Given the description of an element on the screen output the (x, y) to click on. 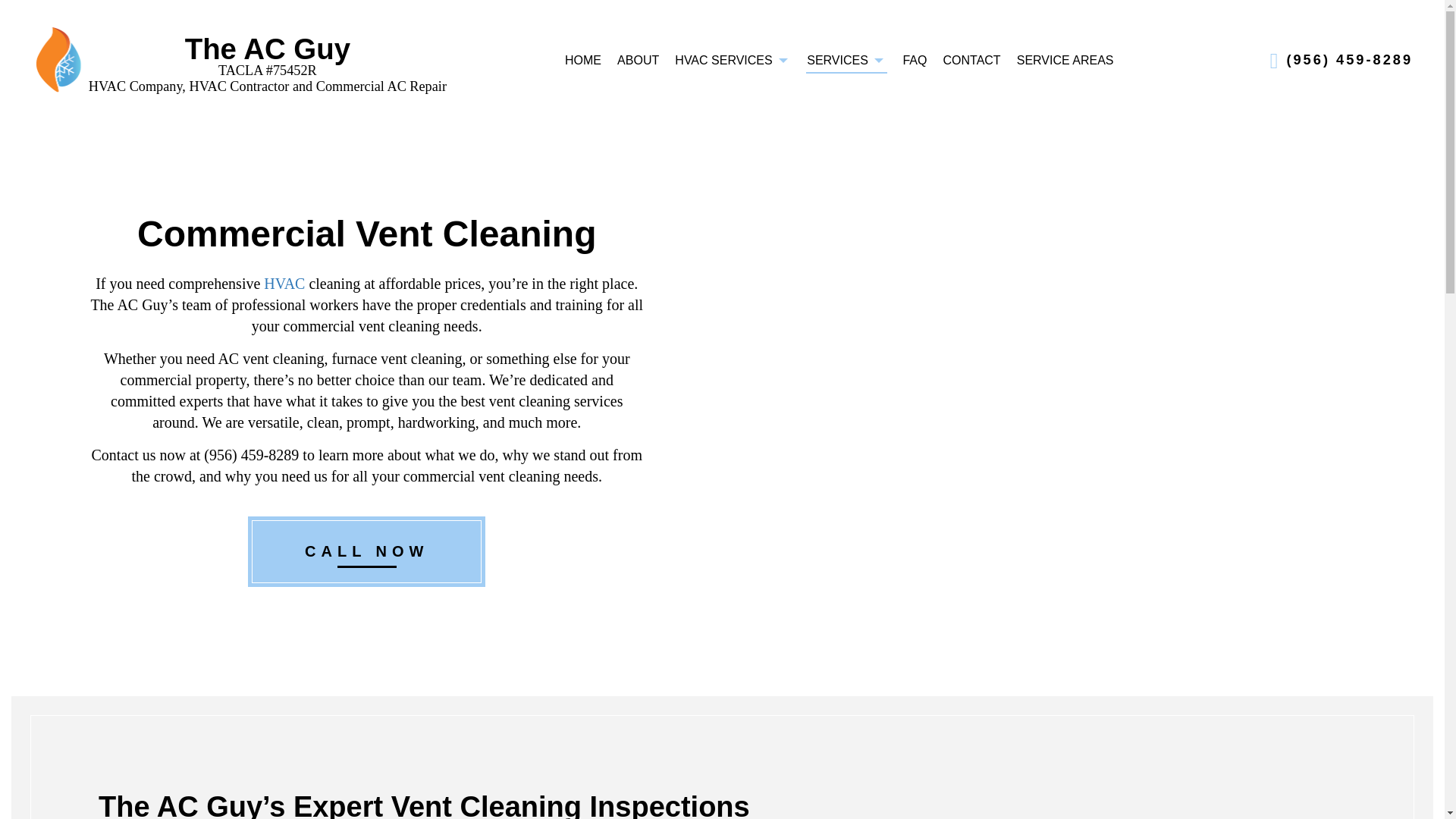
back to The AC Guy home page (267, 49)
The AC Guy (58, 58)
